Given the description of an element on the screen output the (x, y) to click on. 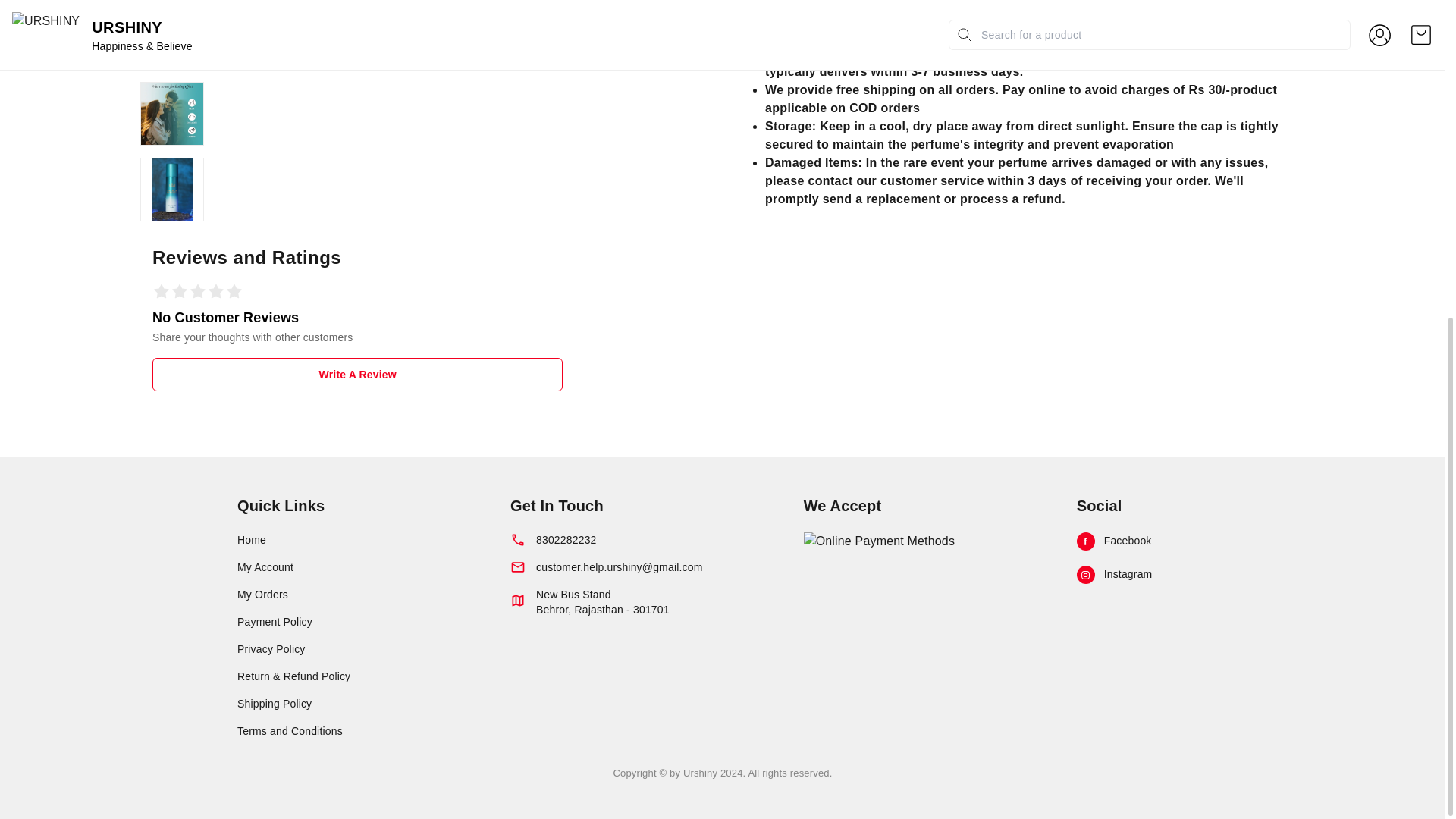
My Orders (358, 594)
Payment Policy (358, 621)
Instagram (1142, 574)
8302282232 (657, 608)
My Account (657, 539)
Write A Review (358, 566)
Terms and Conditions (357, 374)
Privacy Policy (358, 730)
Home (358, 648)
Facebook (358, 539)
Shipping Policy (1142, 541)
